Given the description of an element on the screen output the (x, y) to click on. 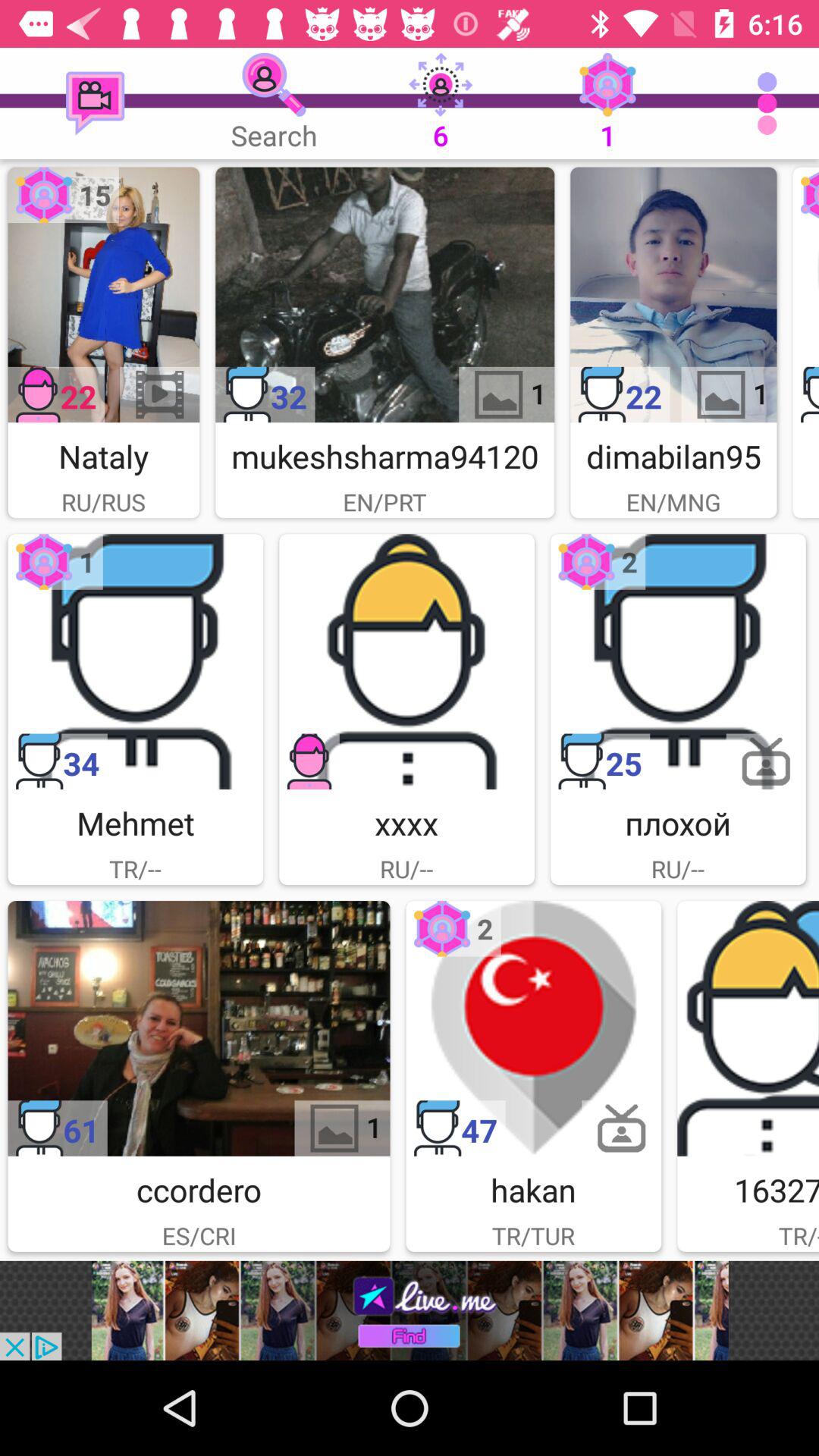
select item (805, 294)
